Given the description of an element on the screen output the (x, y) to click on. 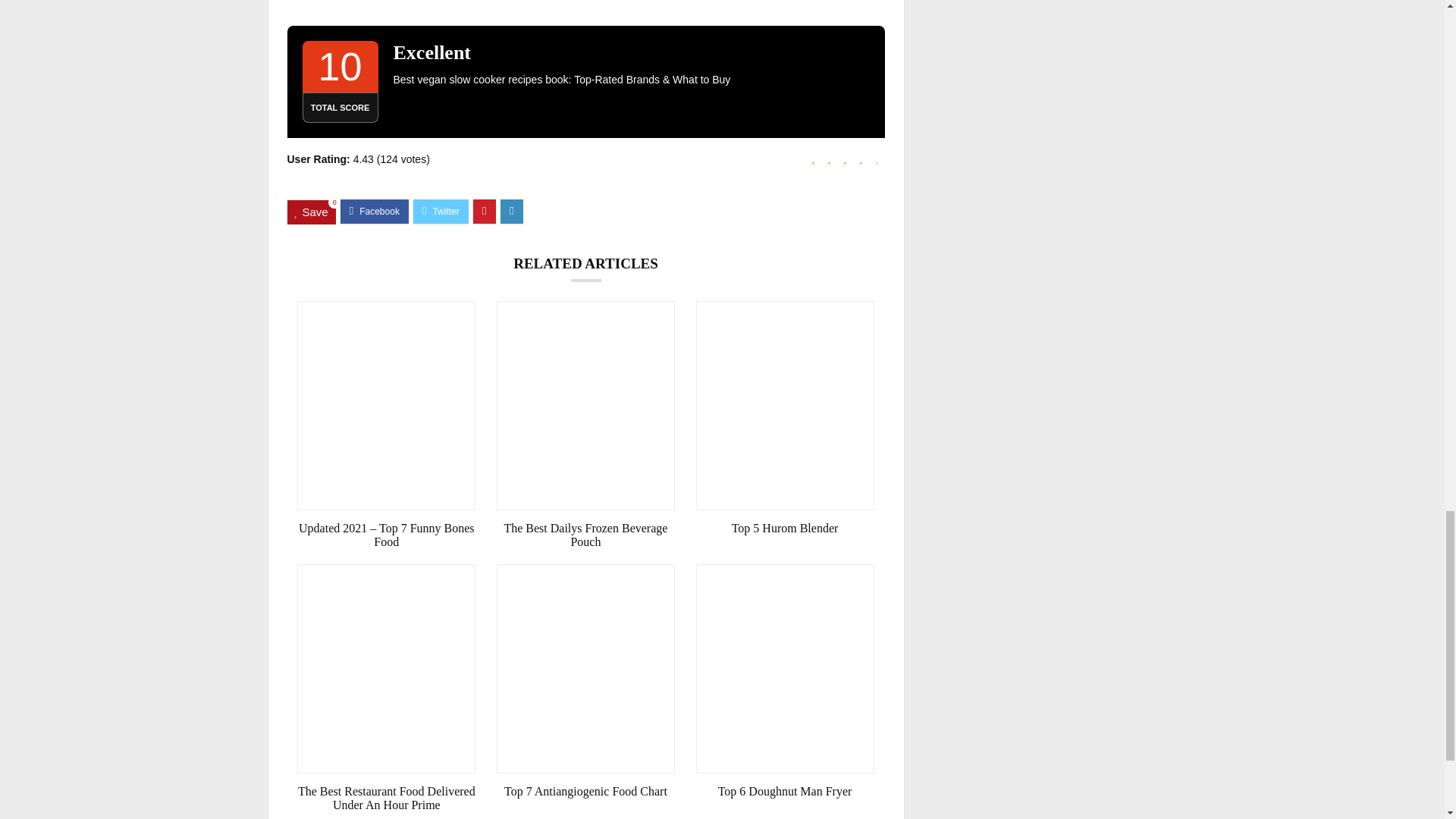
Top 6 Doughnut Man Fryer (785, 791)
Top 7 Antiangiogenic Food Chart (585, 791)
The Best Restaurant Food Delivered Under An Hour Prime (386, 798)
Top 5 Hurom Blender (785, 528)
The Best Dailys Frozen Beverage Pouch (585, 534)
